Given the description of an element on the screen output the (x, y) to click on. 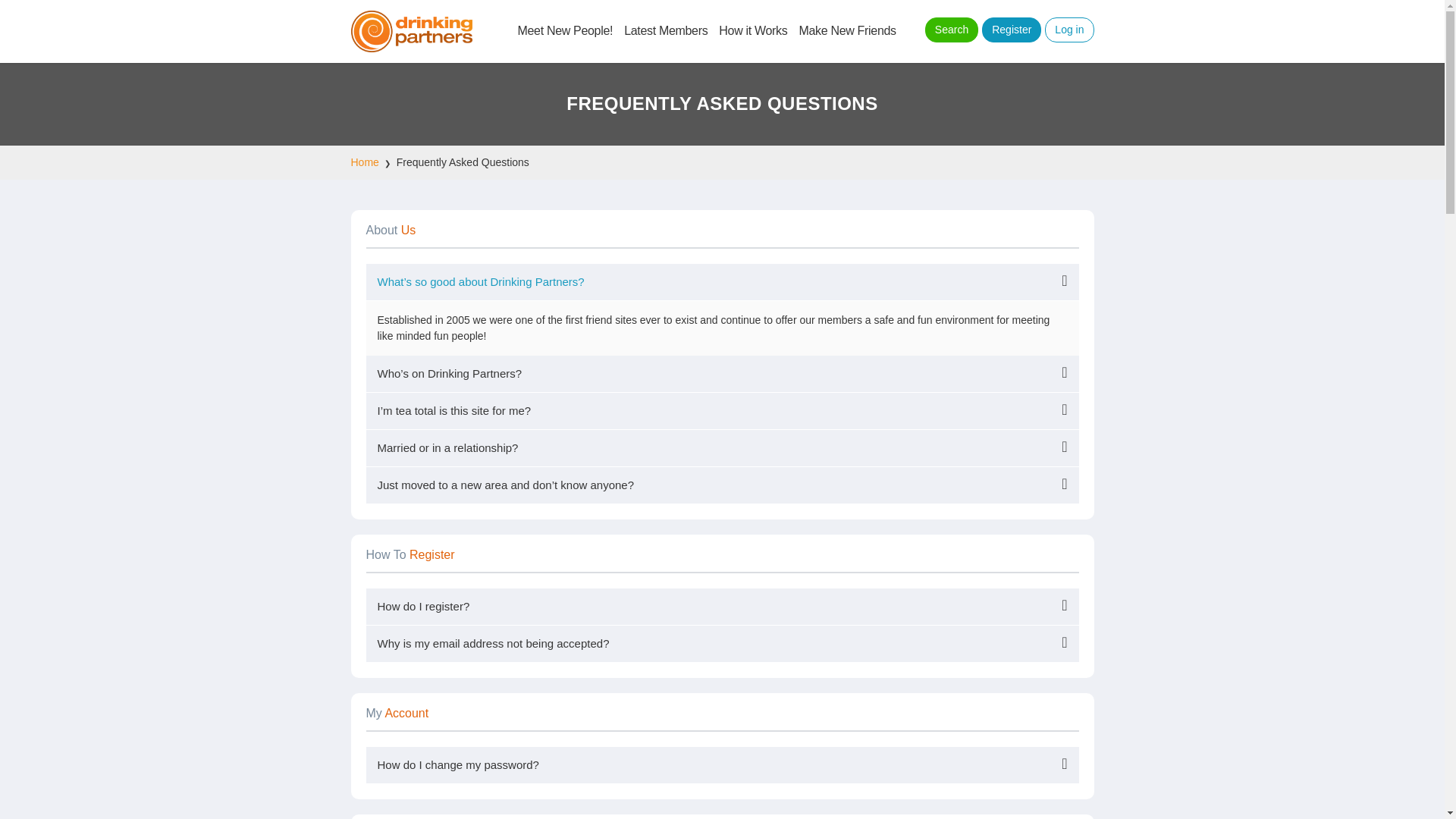
How it Works (753, 30)
Married or in a relationship? (721, 447)
Login (1069, 29)
Register here to meet new people! (1011, 29)
How do I change my password? (721, 764)
Make New Friends (846, 30)
Make New Friends with Drinking Partners (410, 31)
Home (364, 162)
Why is my email address not being accepted? (721, 643)
Meet New People! (564, 30)
